Given the description of an element on the screen output the (x, y) to click on. 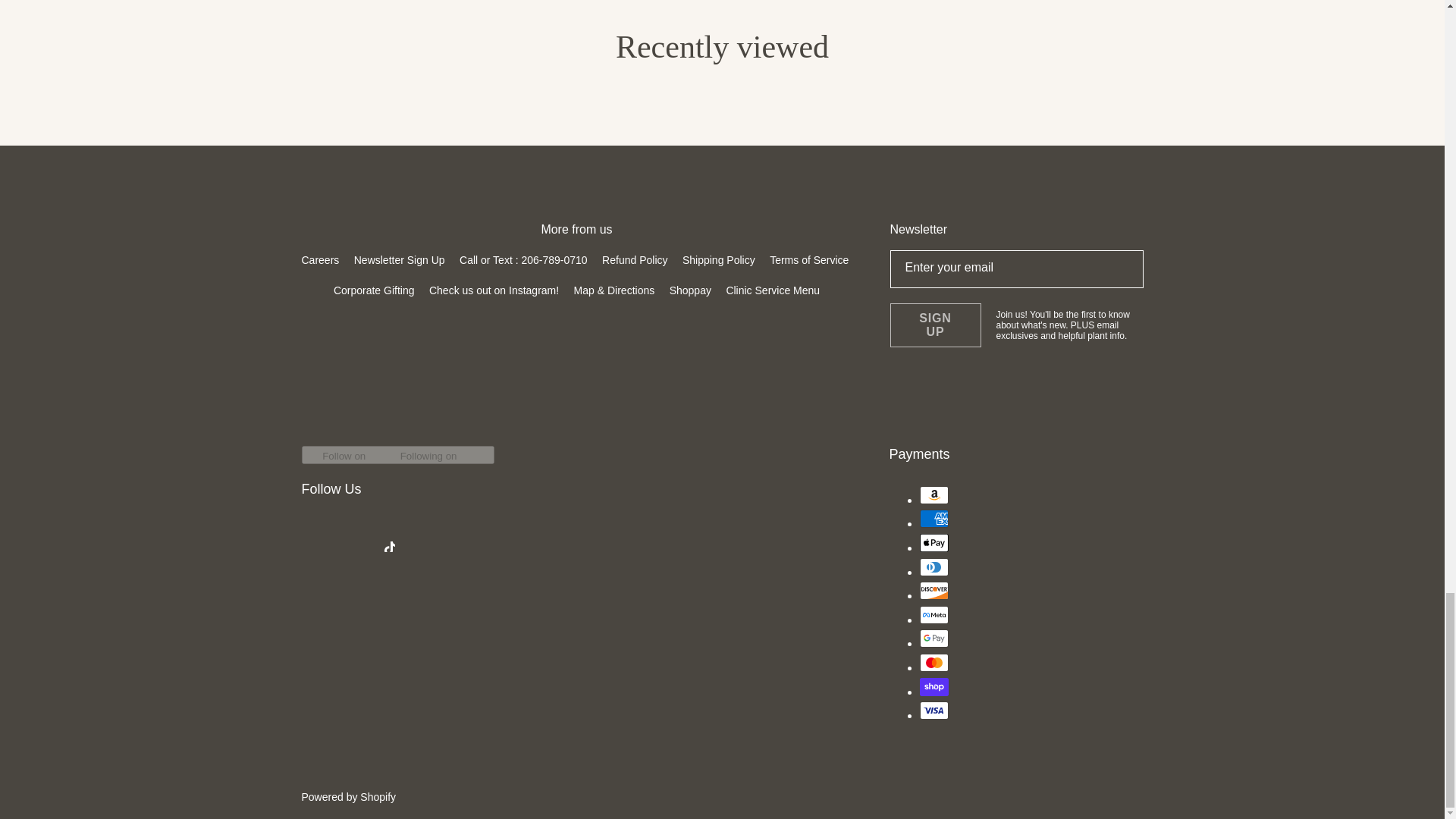
Apple Pay (932, 542)
Diners Club (932, 566)
Google Pay (932, 638)
American Express (932, 518)
Amazon (932, 495)
Meta Pay (932, 615)
Discover (932, 590)
